Given the description of an element on the screen output the (x, y) to click on. 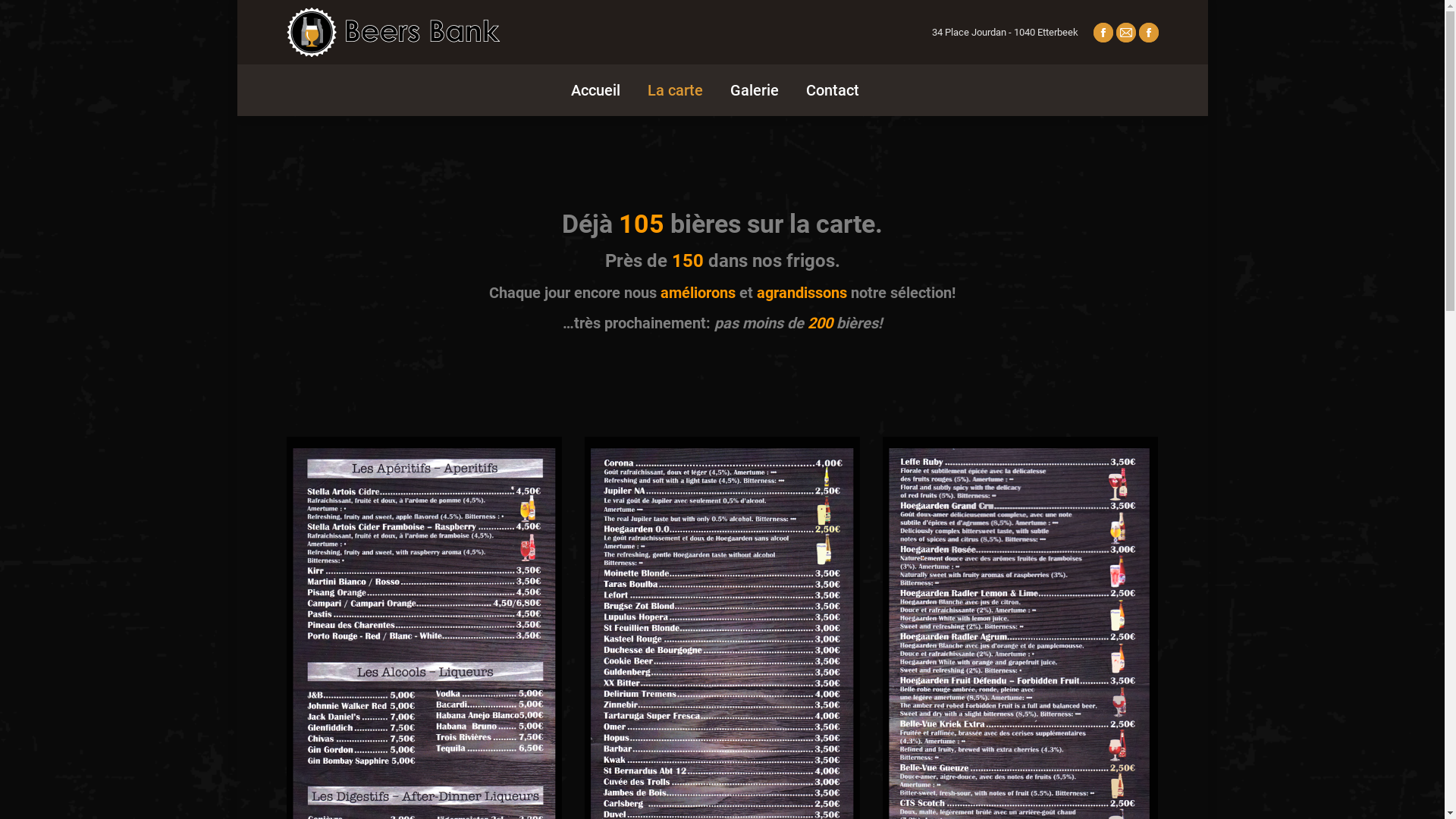
  Accueil Element type: text (590, 90)
La carte Element type: text (675, 90)
Galerie Element type: text (753, 90)
Facebook page opens in new window Element type: text (1148, 32)
Contact Element type: text (831, 90)
Mail page opens in new window Element type: text (1125, 32)
Facebook page opens in new window Element type: text (1103, 32)
